Given the description of an element on the screen output the (x, y) to click on. 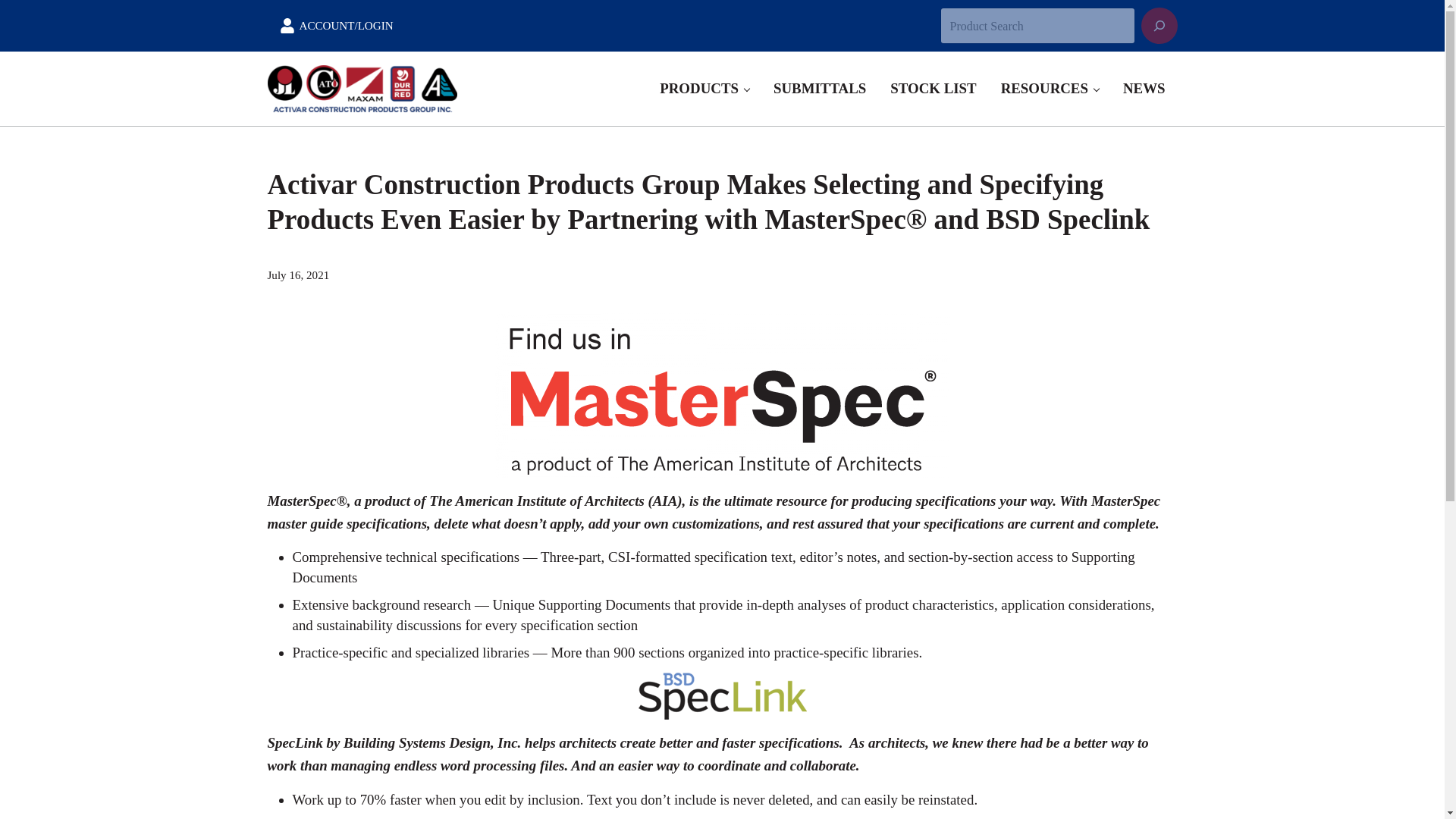
SUBMITTALS (819, 87)
PRODUCTS (704, 87)
NEWS (1143, 87)
RESOURCES (1049, 87)
STOCK LIST (932, 87)
